Given the description of an element on the screen output the (x, y) to click on. 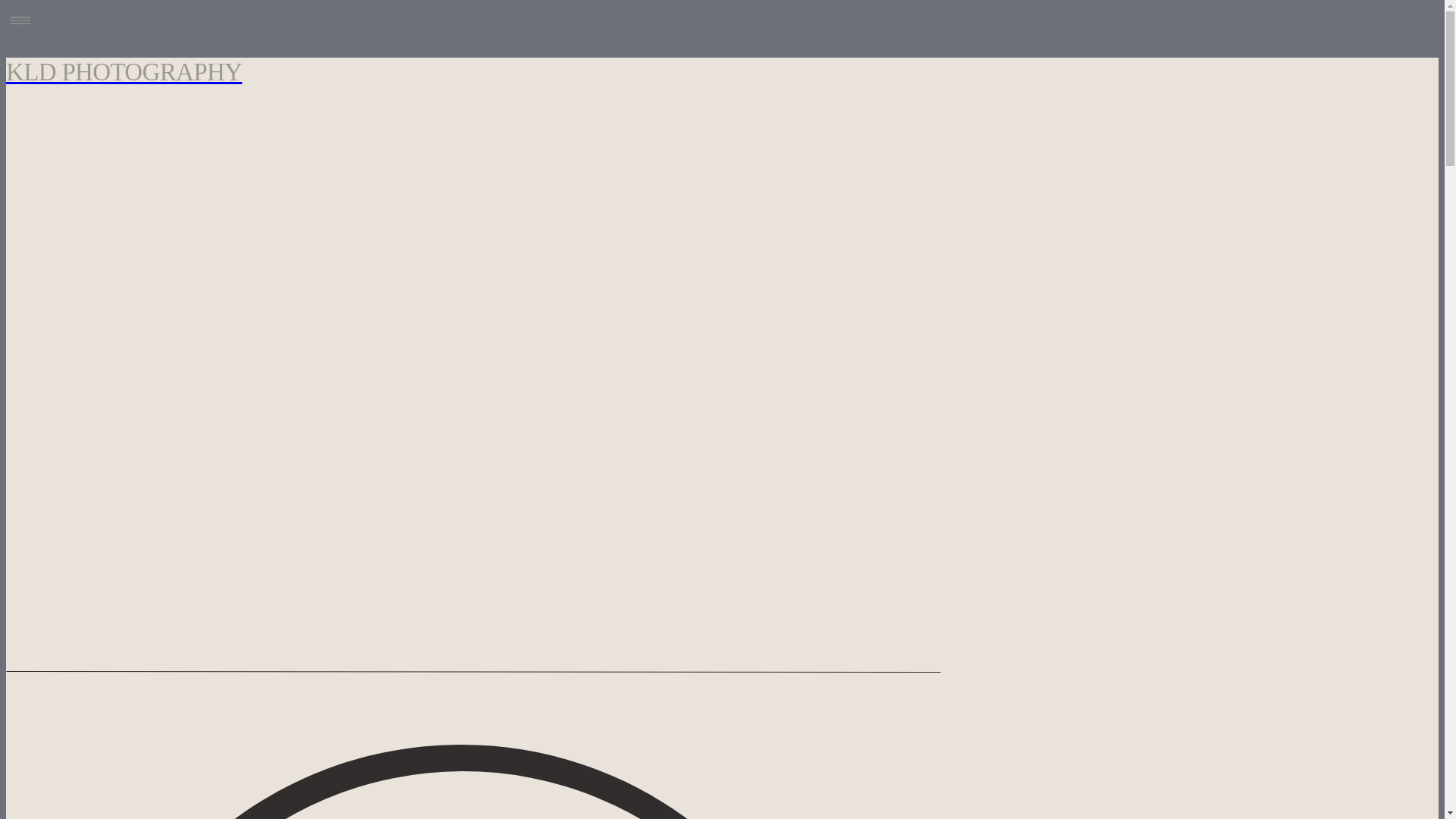
KLD PHOTOGRAPHY Element type: text (461, 71)
